Given the description of an element on the screen output the (x, y) to click on. 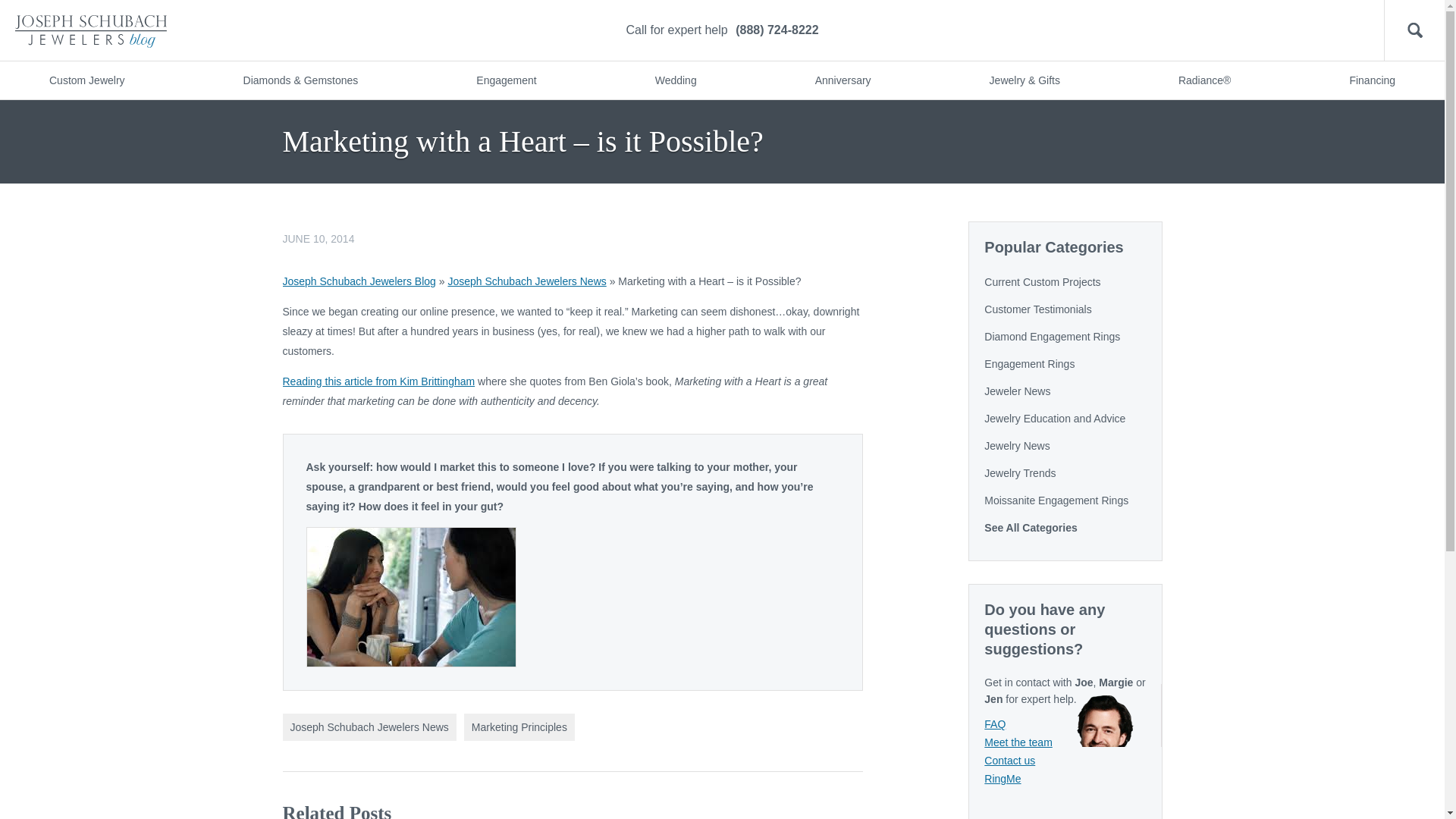
Custom Jewelry (86, 80)
Engagement (505, 80)
Wedding (675, 80)
